Given the description of an element on the screen output the (x, y) to click on. 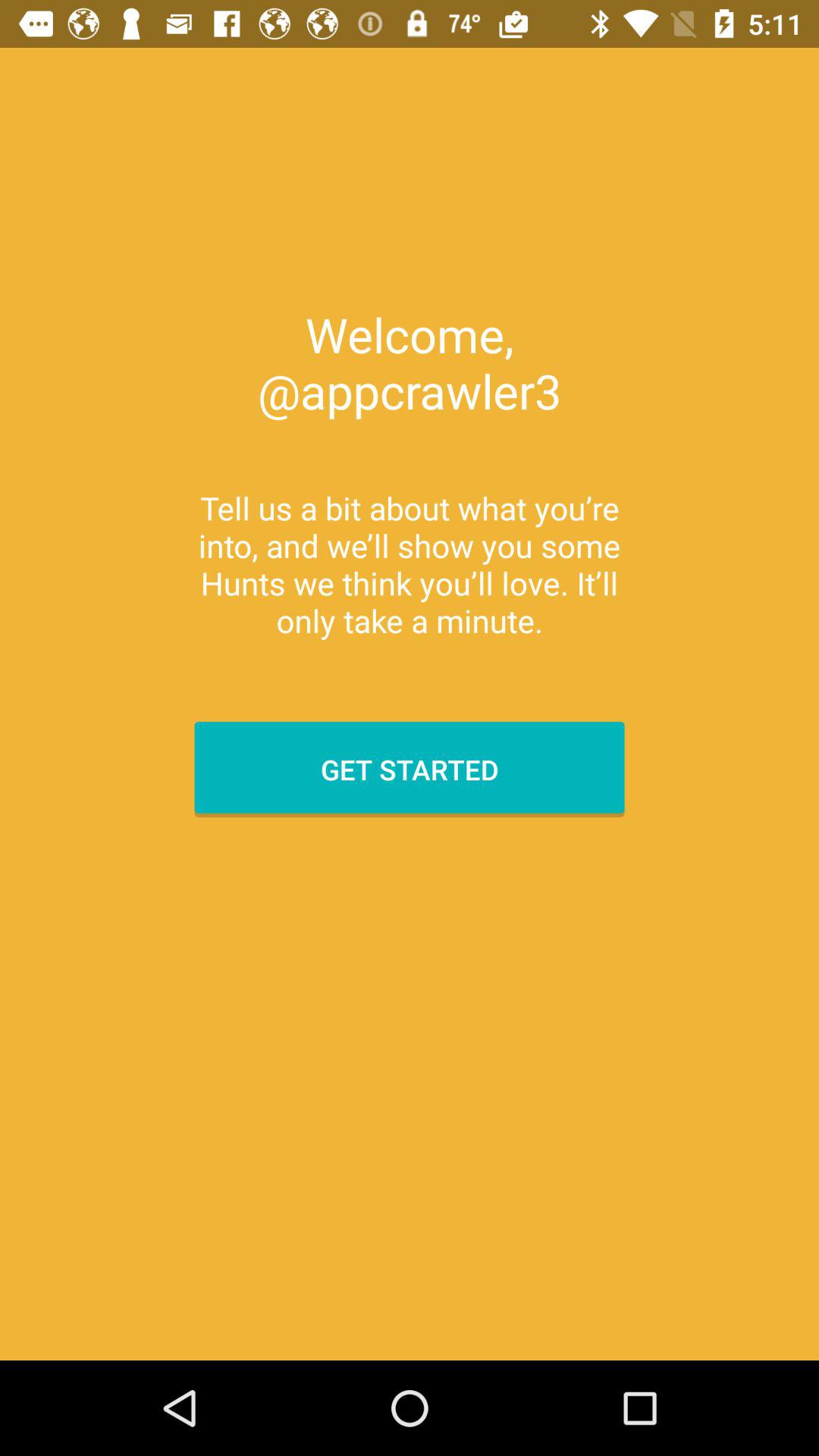
flip until get started (409, 769)
